Given the description of an element on the screen output the (x, y) to click on. 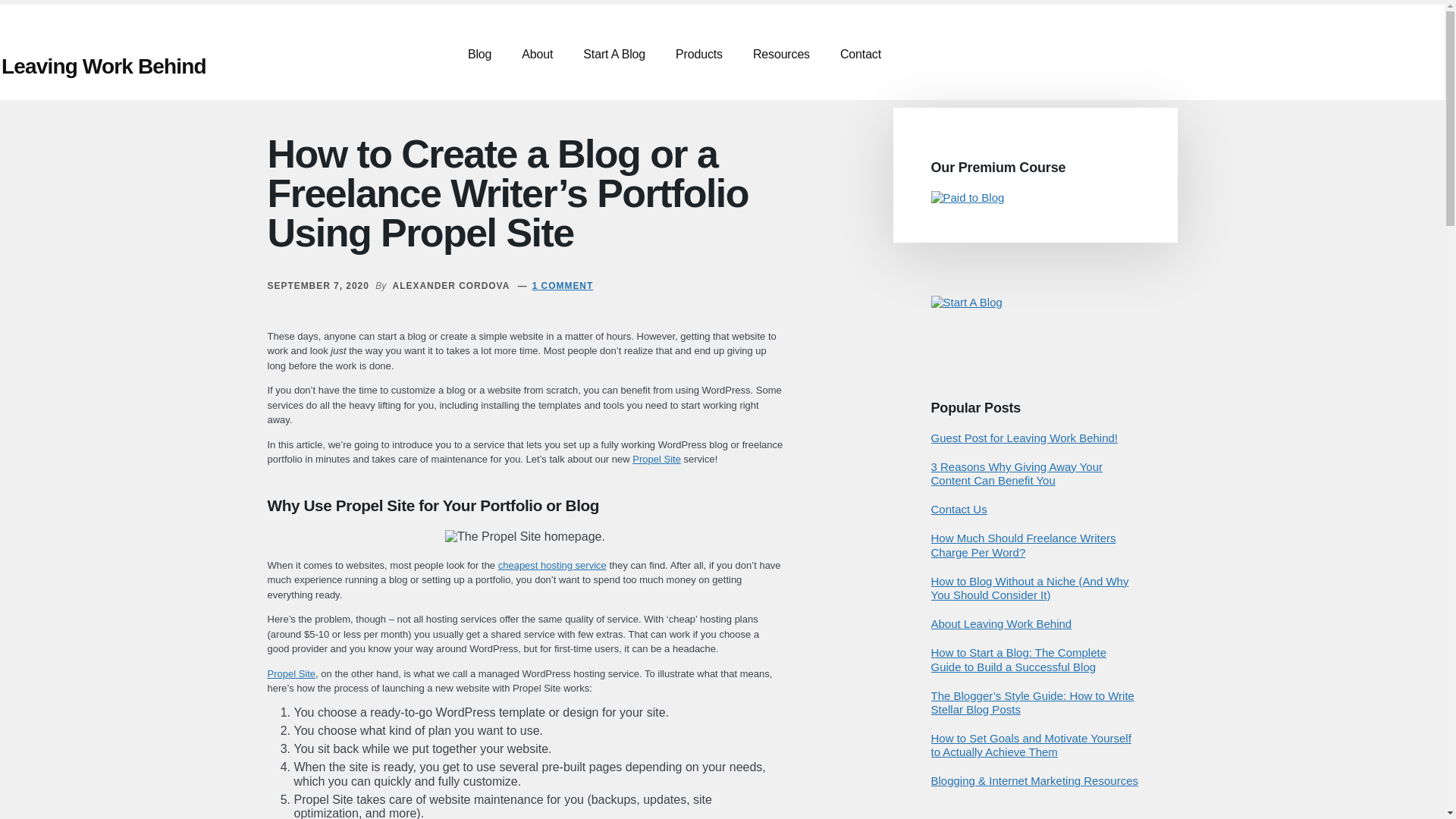
Contact (860, 54)
Start A Blog (967, 301)
Blog (479, 54)
Guest Post for Leaving Work Behind! (1024, 437)
cheapest hosting service (552, 564)
Contact Us (959, 508)
Start A Blog (967, 302)
Resources (781, 54)
3 Reasons Why Giving Away Your Content Can Benefit You (1017, 473)
Propel Site (290, 673)
Leaving Work Behind (103, 65)
Propel Site (656, 459)
1 COMMENT (563, 285)
About Leaving Work Behind (1001, 623)
How Much Should Freelance Writers Charge Per Word? (1023, 544)
